Given the description of an element on the screen output the (x, y) to click on. 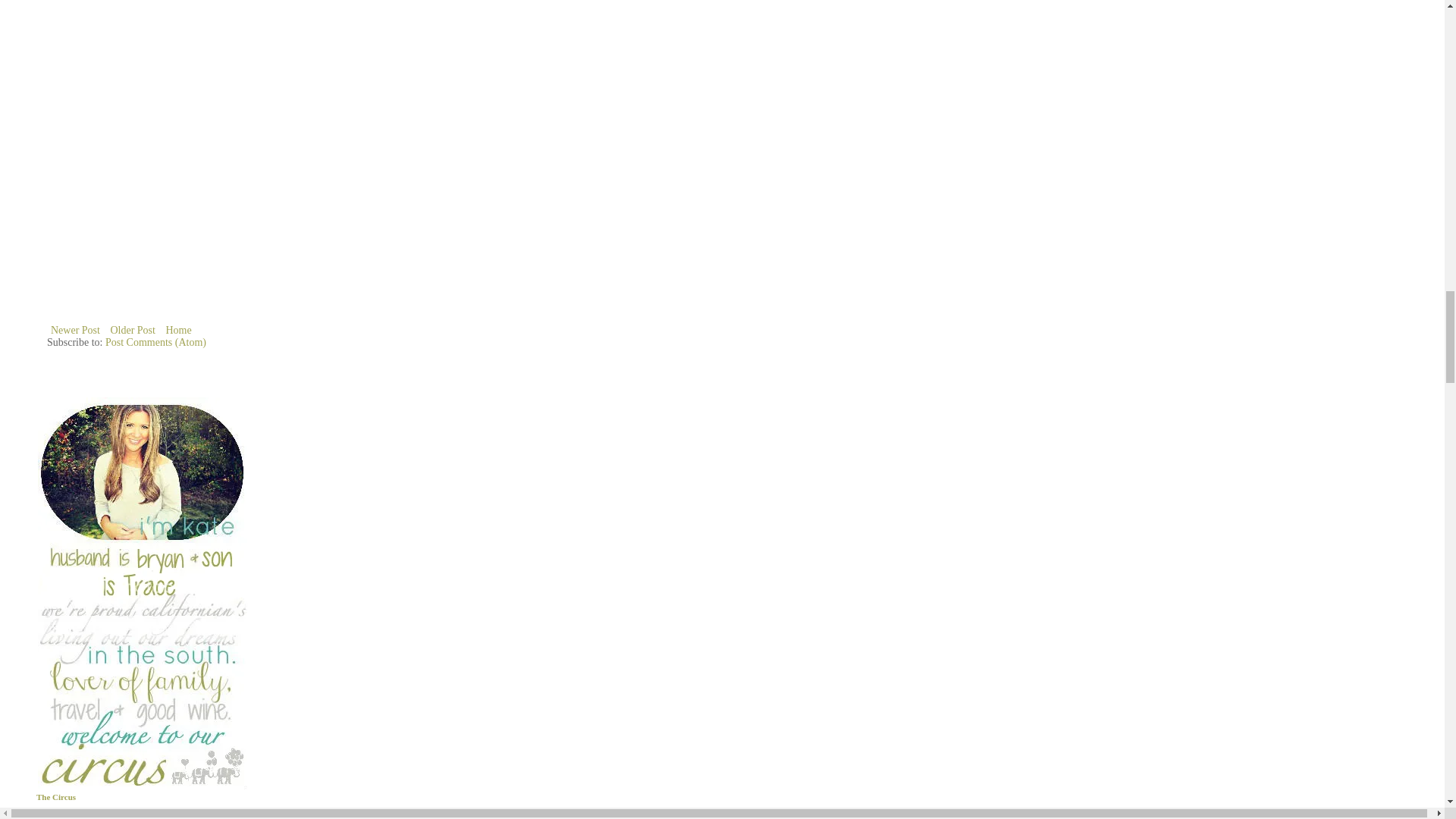
Older Post (132, 330)
Newer Post (74, 330)
